Given the description of an element on the screen output the (x, y) to click on. 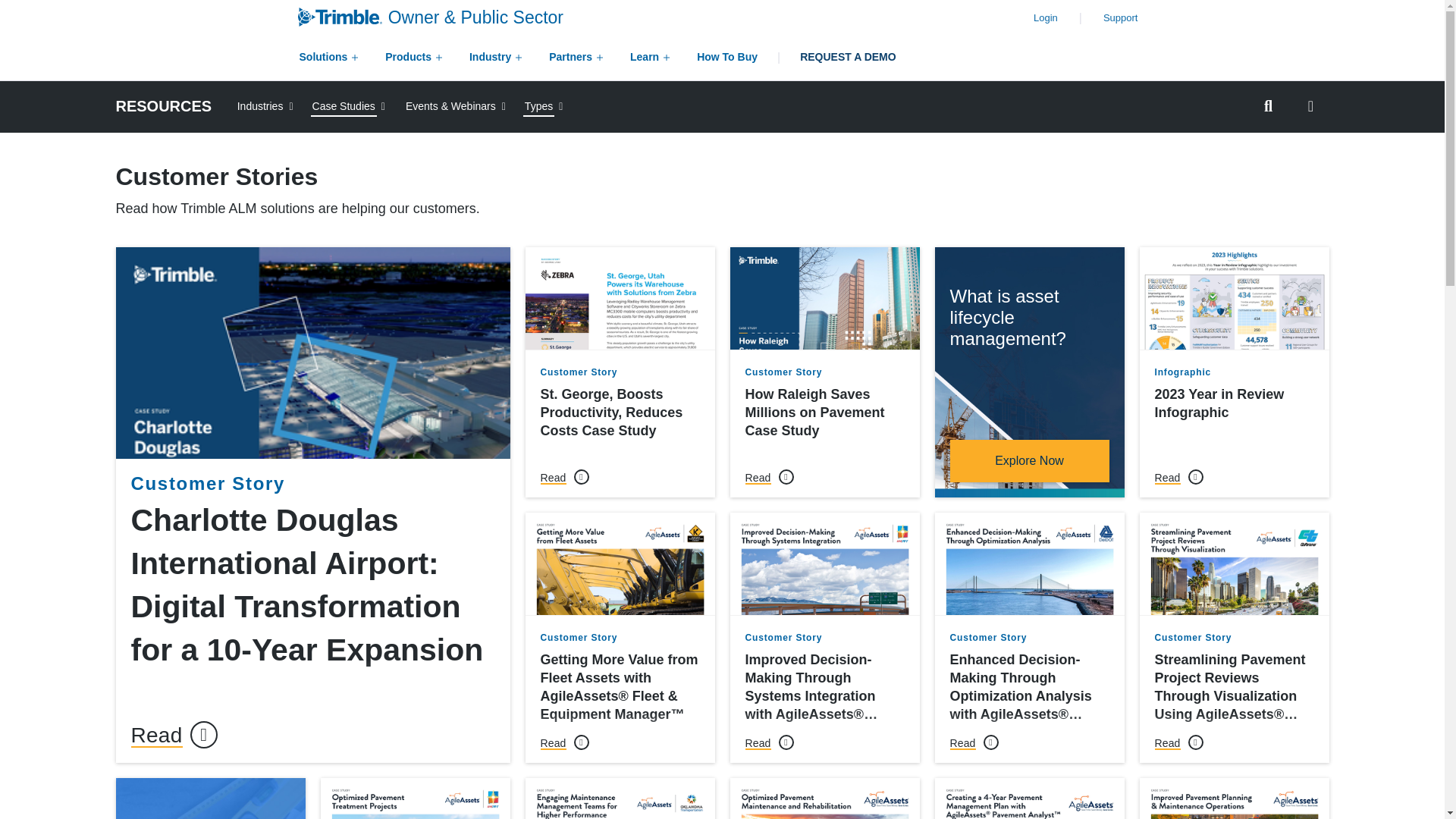
Open Search Box (1267, 105)
Share this Stream (1309, 105)
Support (1120, 18)
Login (1045, 18)
